Given the description of an element on the screen output the (x, y) to click on. 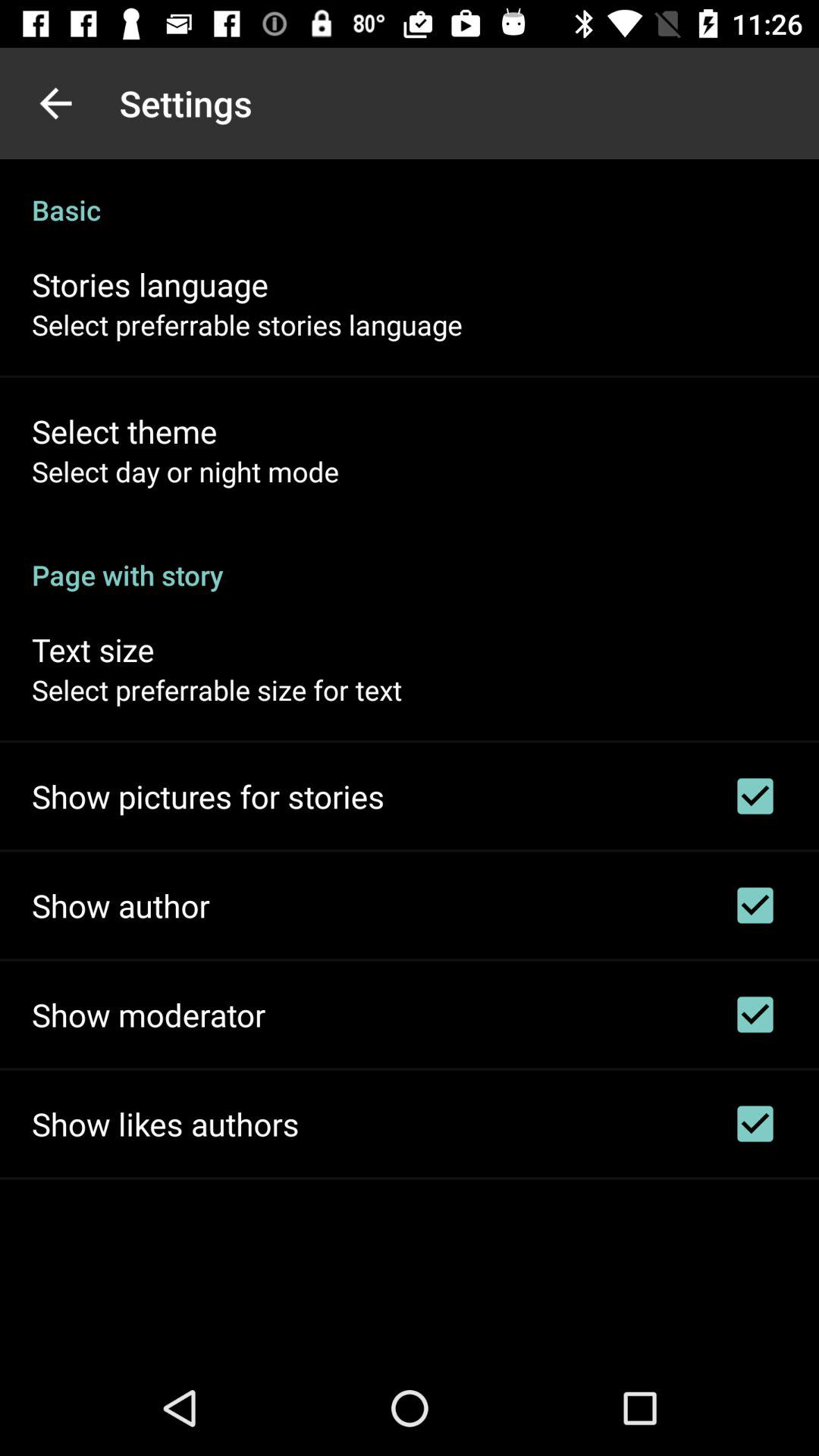
select the page with story icon (409, 558)
